Given the description of an element on the screen output the (x, y) to click on. 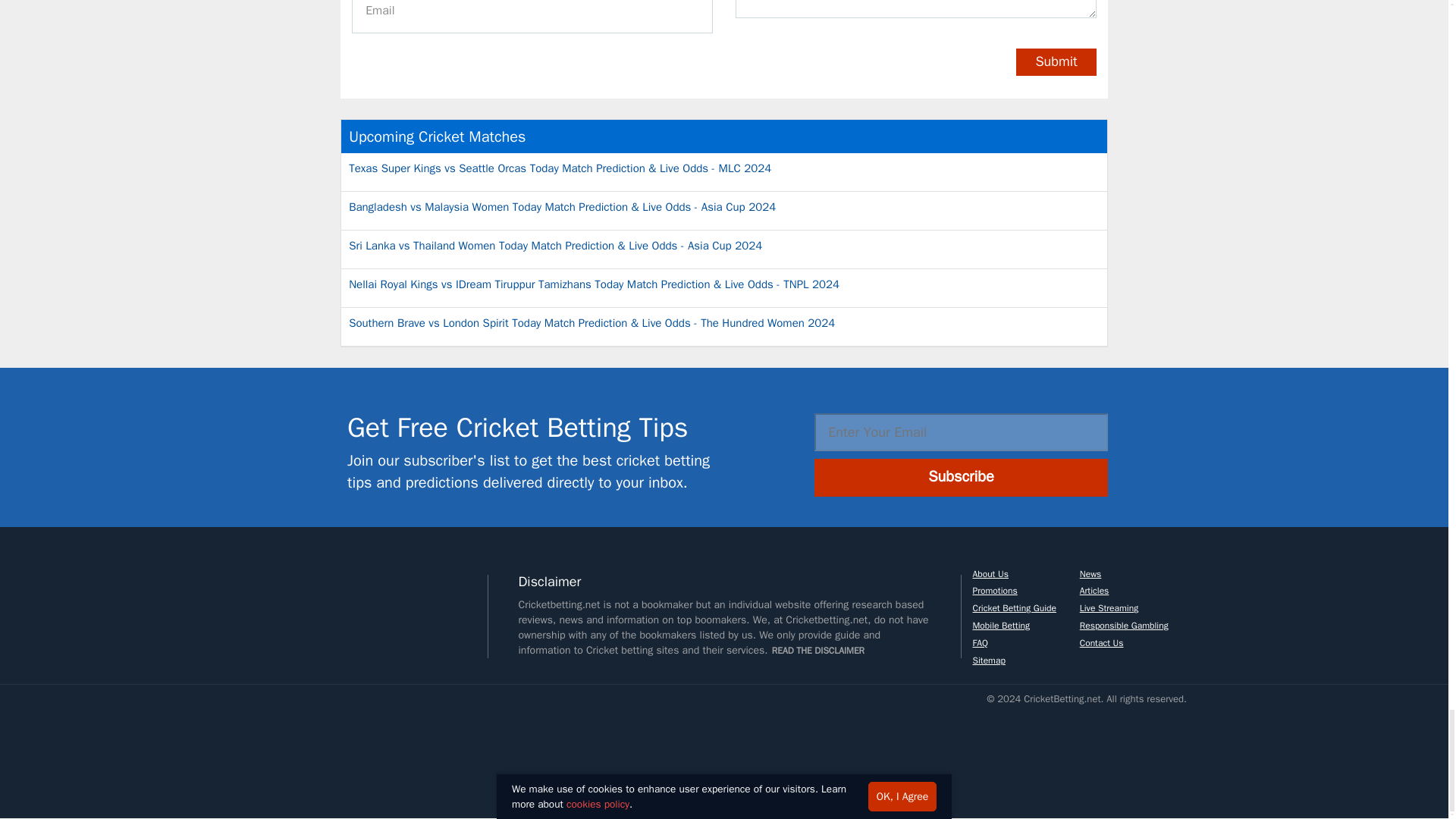
subscribe-newsletter (299, 450)
Submit (1056, 62)
Cricket Betting (300, 601)
Cricket Betting (487, 751)
Cricket Betting (300, 750)
Cricket Betting (383, 751)
